Given the description of an element on the screen output the (x, y) to click on. 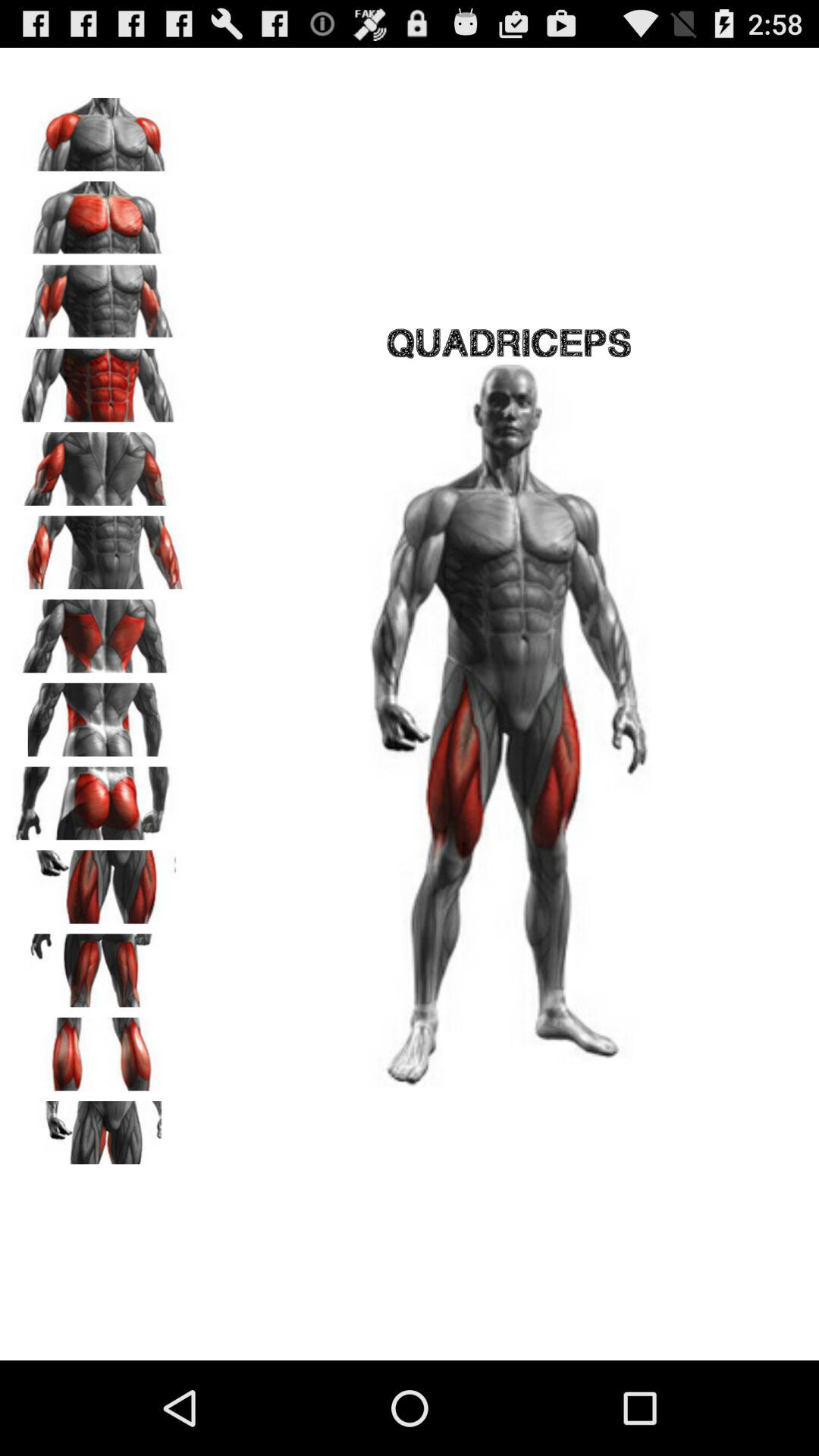
make selection (99, 296)
